Given the description of an element on the screen output the (x, y) to click on. 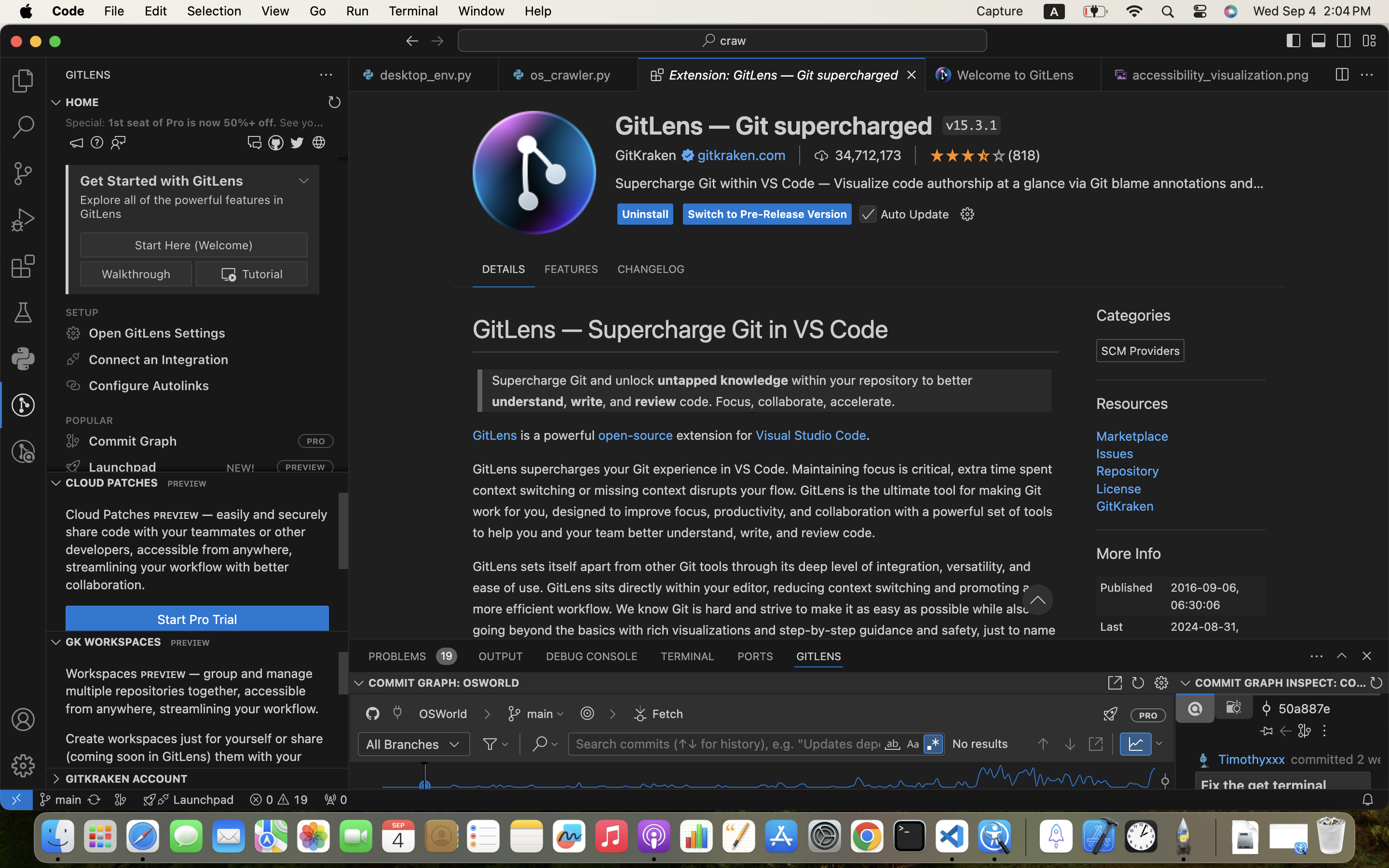
gitkraken.com Element type: AXStaticText (741, 154)
0  Element type: AXRadioButton (23, 127)
Unlock the full power of GitLens Element type: AXStaticText (1138, 398)
 Element type: AXCheckBox (1318, 40)
git Element type: AXStaticText (580, 435)
